Given the description of an element on the screen output the (x, y) to click on. 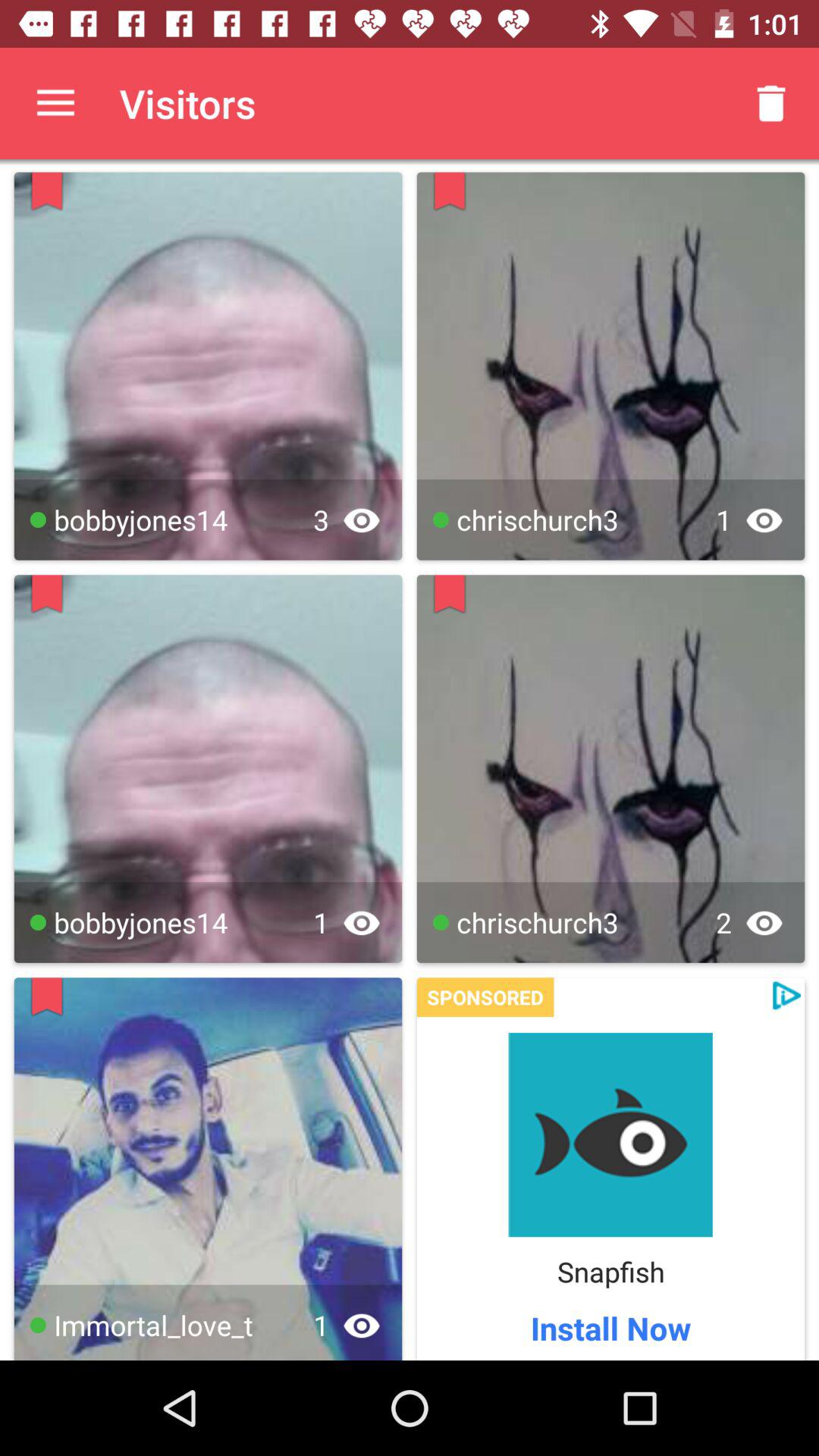
advertisement for an app (610, 1134)
